Given the description of an element on the screen output the (x, y) to click on. 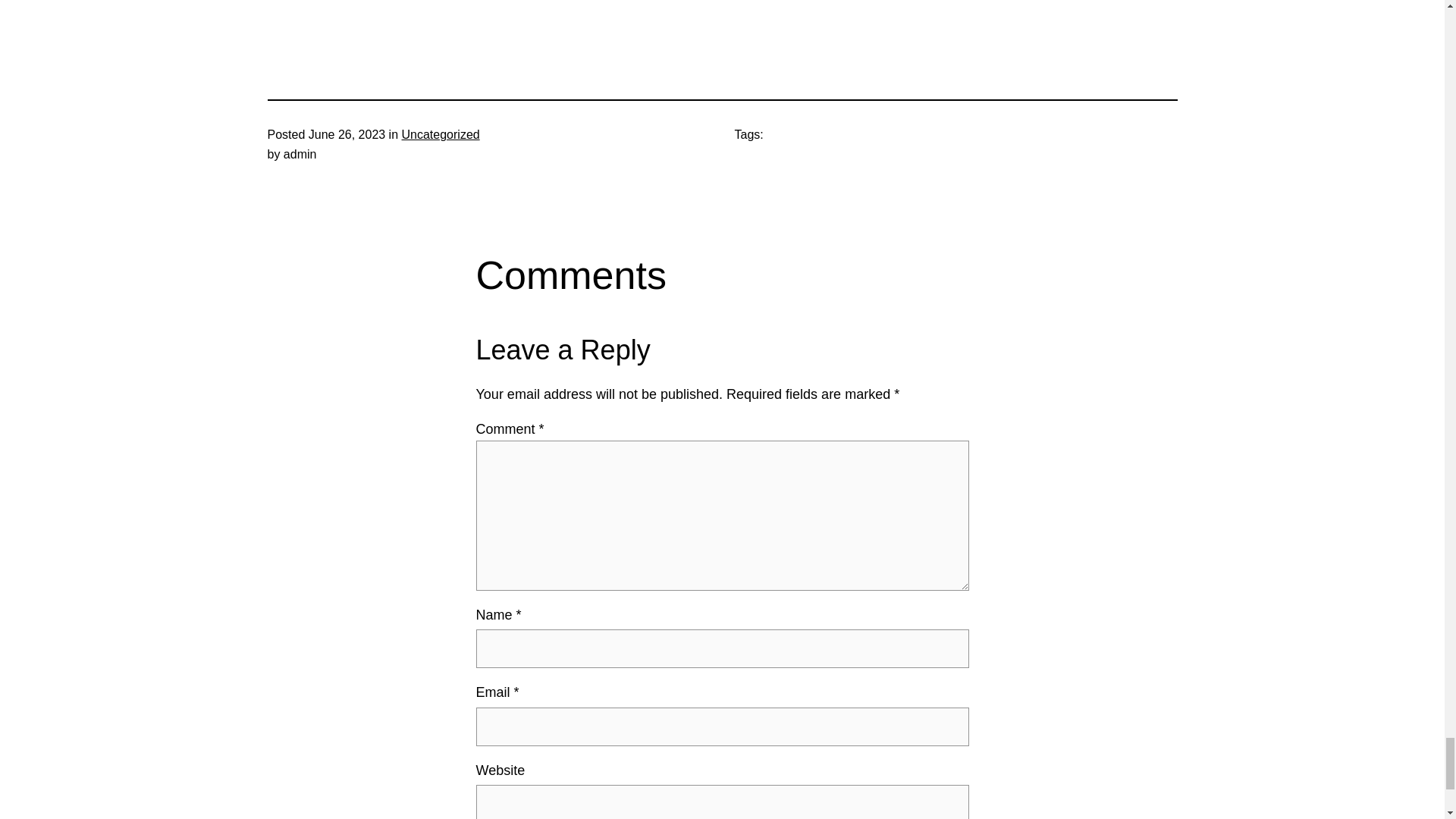
Uncategorized (440, 133)
